Given the description of an element on the screen output the (x, y) to click on. 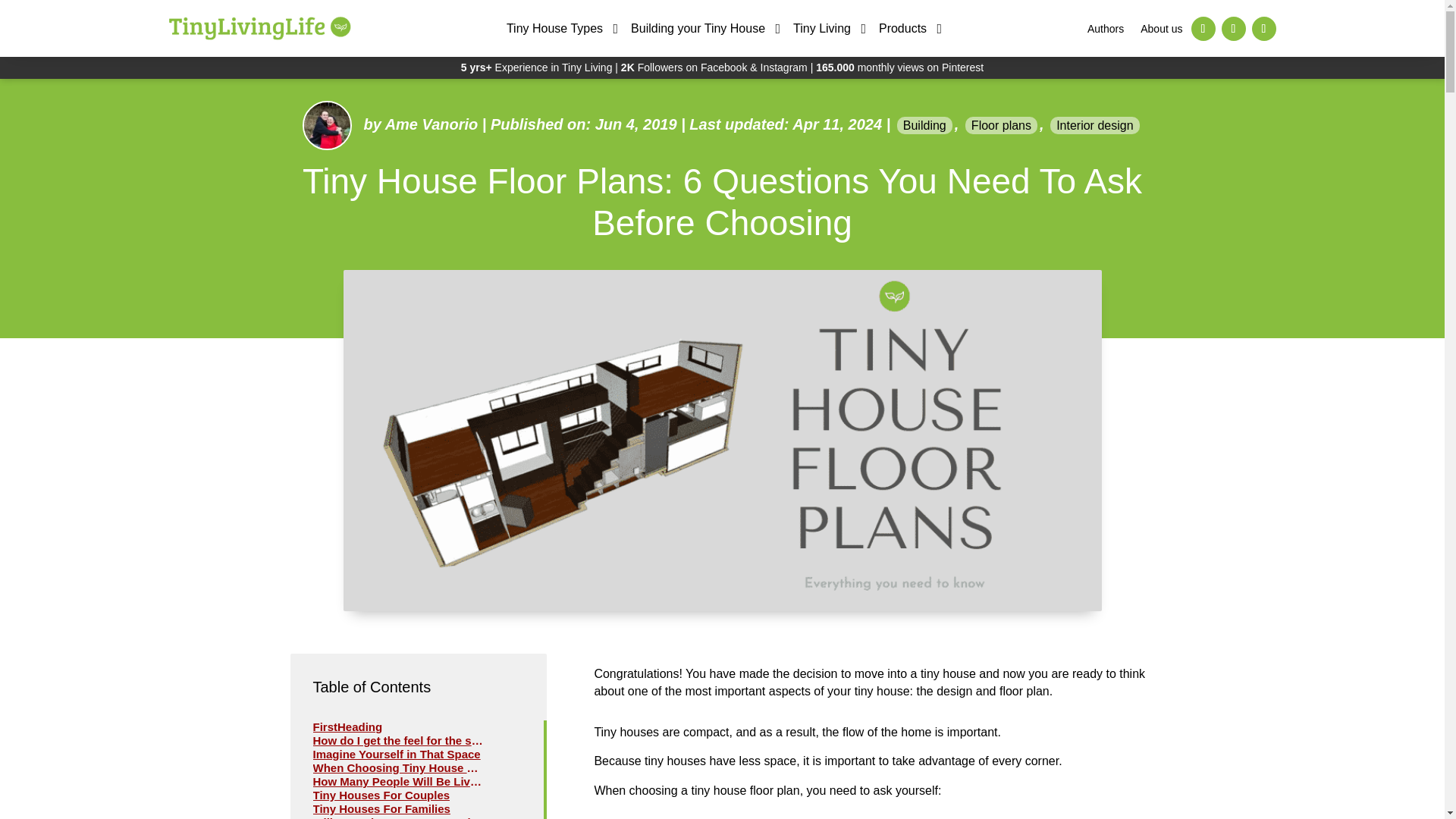
Posts by Ame Vanorio (432, 124)
Follow on Pinterest (1262, 28)
Follow on Facebook (1202, 28)
Tiny House Types (554, 28)
Follow on Instagram (1232, 28)
Building your Tiny House (697, 28)
